Given the description of an element on the screen output the (x, y) to click on. 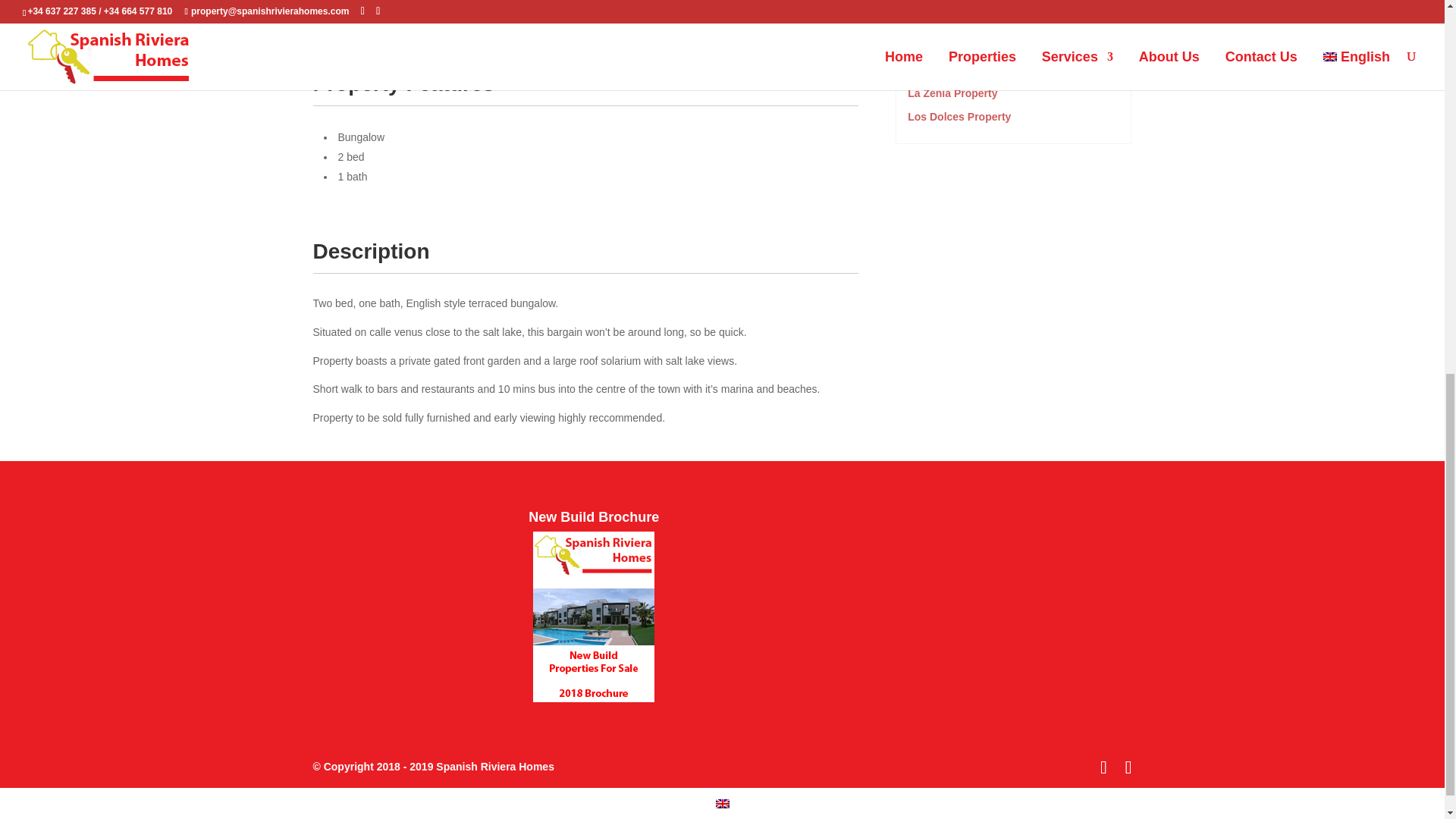
Villamartin (958, 23)
La Zenia (952, 92)
Punta Prima (961, 69)
Cabo Roig (957, 2)
Los Dolses (958, 116)
Playa Flamenca (970, 46)
